Given the description of an element on the screen output the (x, y) to click on. 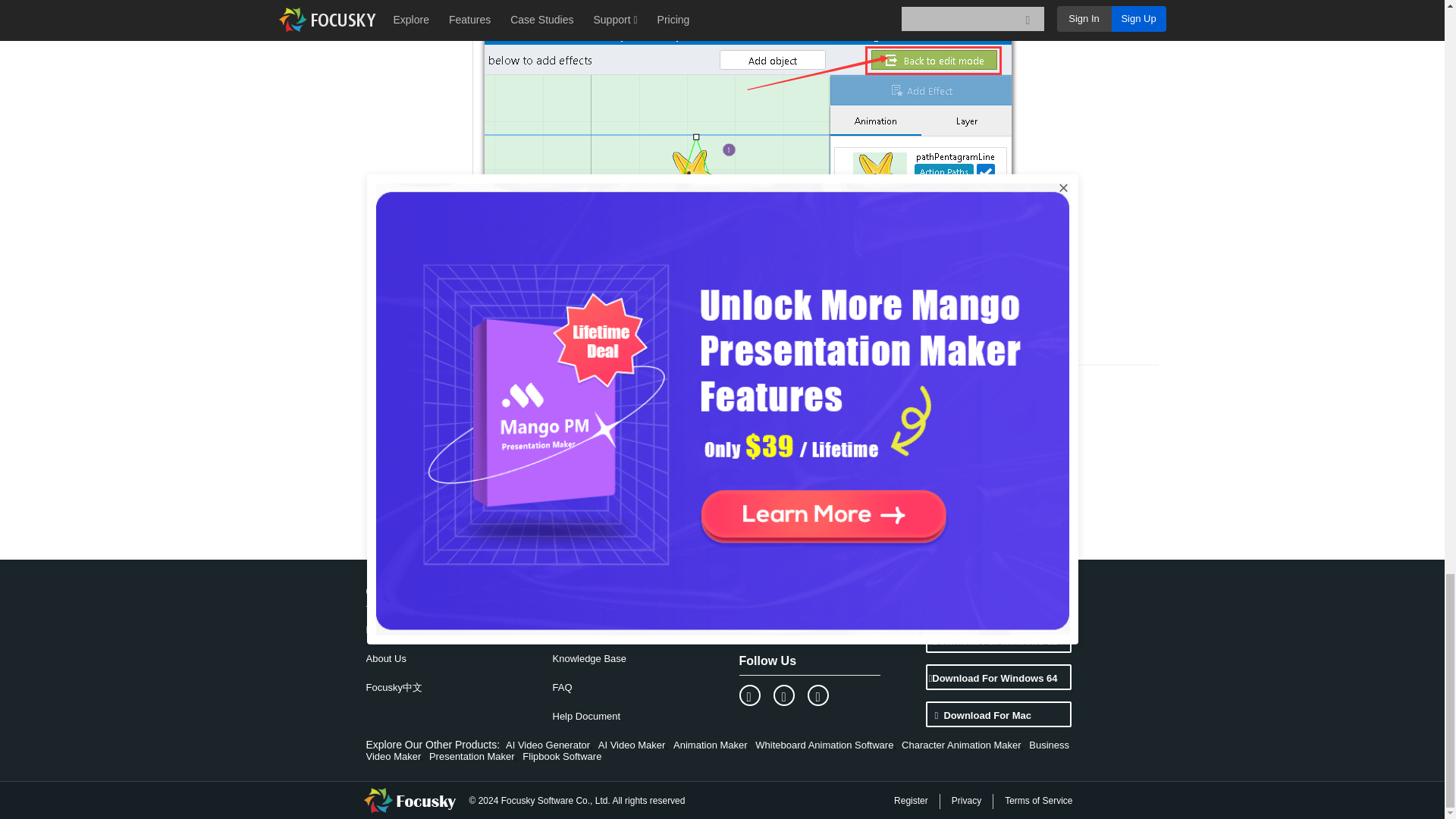
Where to apply action path animation effect to the objects? (630, 420)
How to create new action path animation? (593, 401)
How to Add Animation to Objects in the Path? (601, 381)
